Given the description of an element on the screen output the (x, y) to click on. 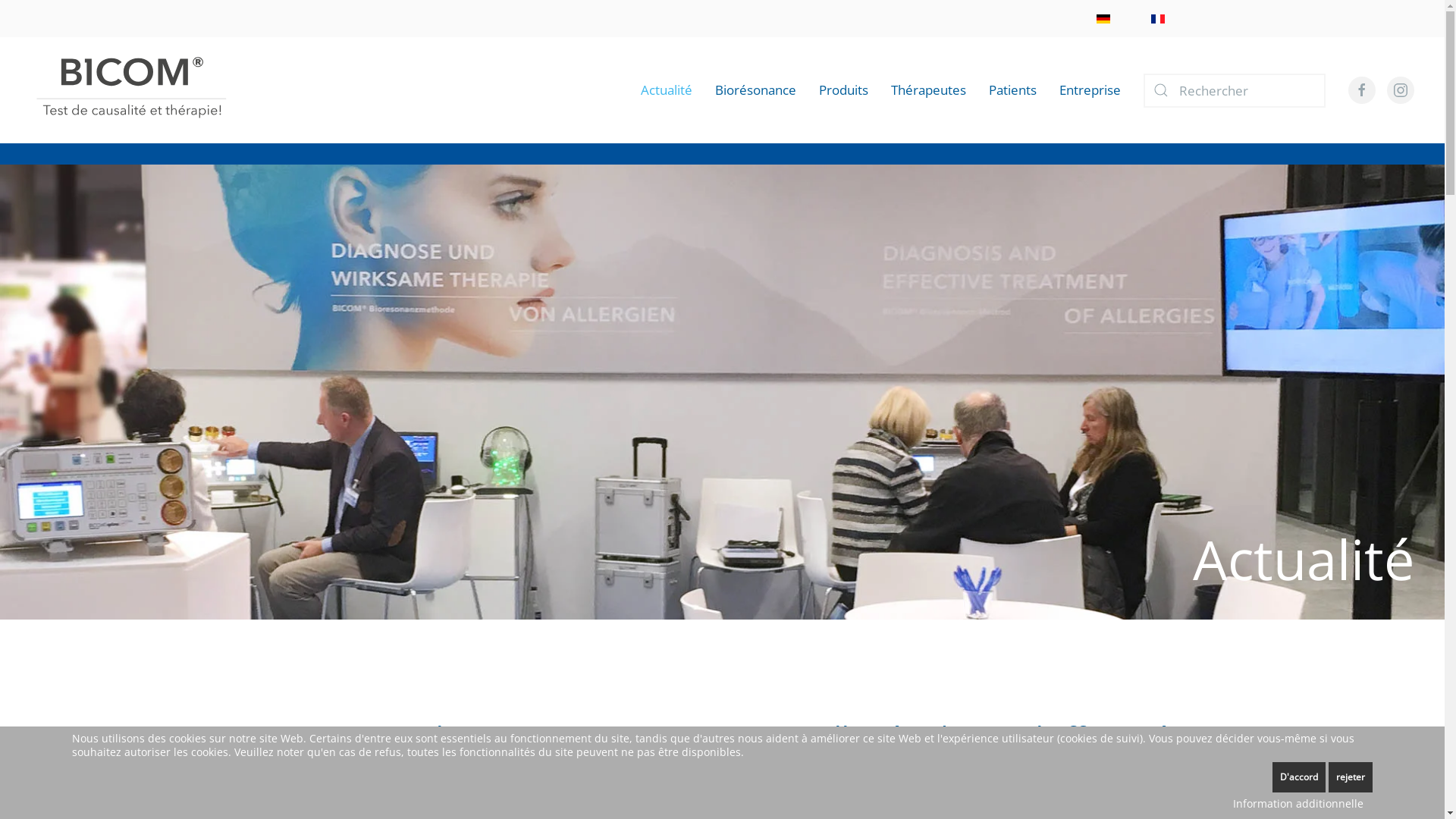
Produits Element type: text (843, 90)
Deutsch Element type: hover (1103, 17)
D'accord Element type: text (1298, 777)
Entreprise Element type: text (1089, 90)
rejeter Element type: text (1350, 777)
Information additionnelle Element type: text (1298, 803)
French Element type: hover (1157, 17)
Patients Element type: text (1012, 90)
